Given the description of an element on the screen output the (x, y) to click on. 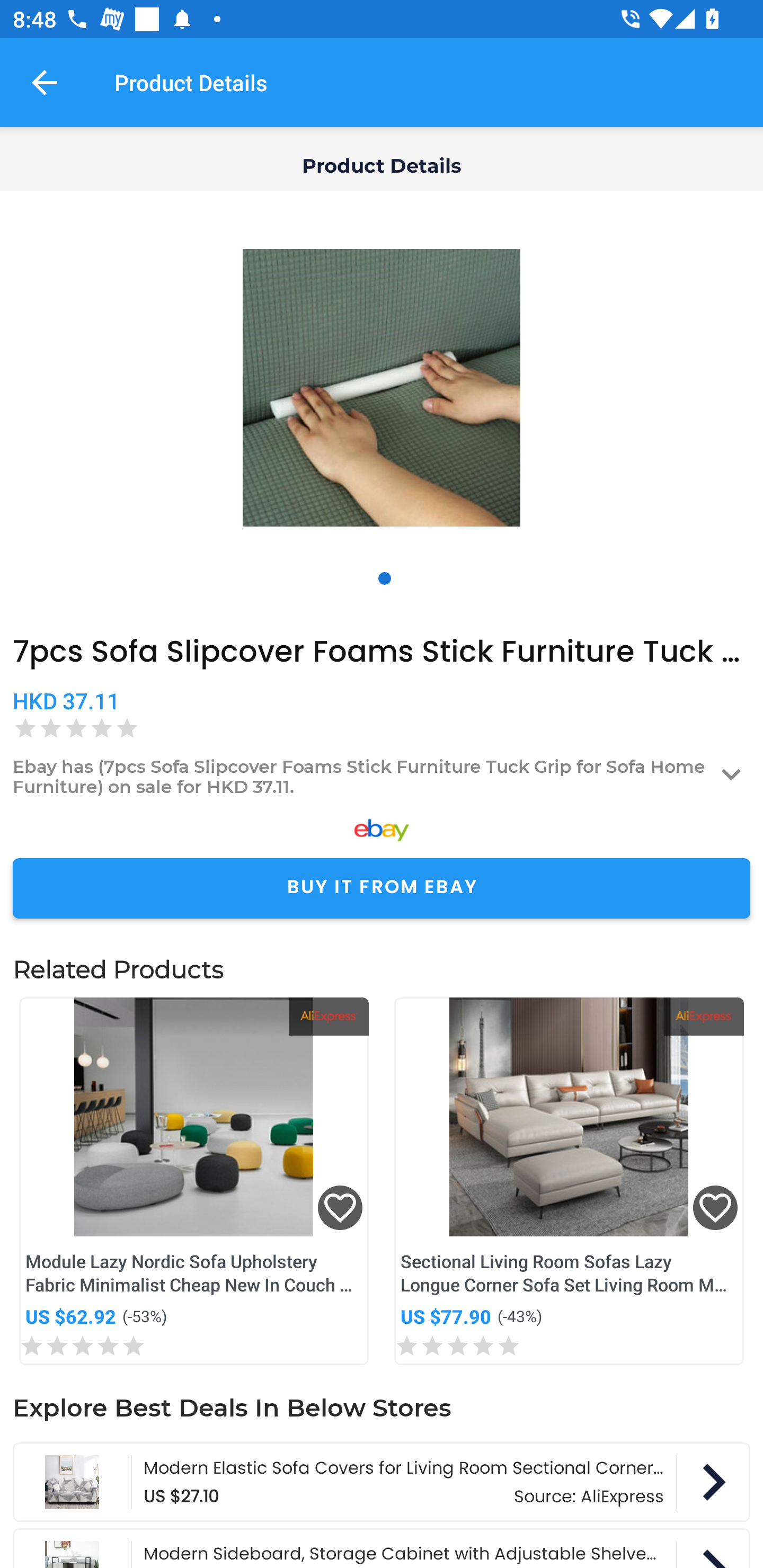
Navigate up (44, 82)
BUY IT FROM EBAY (381, 888)
